Given the description of an element on the screen output the (x, y) to click on. 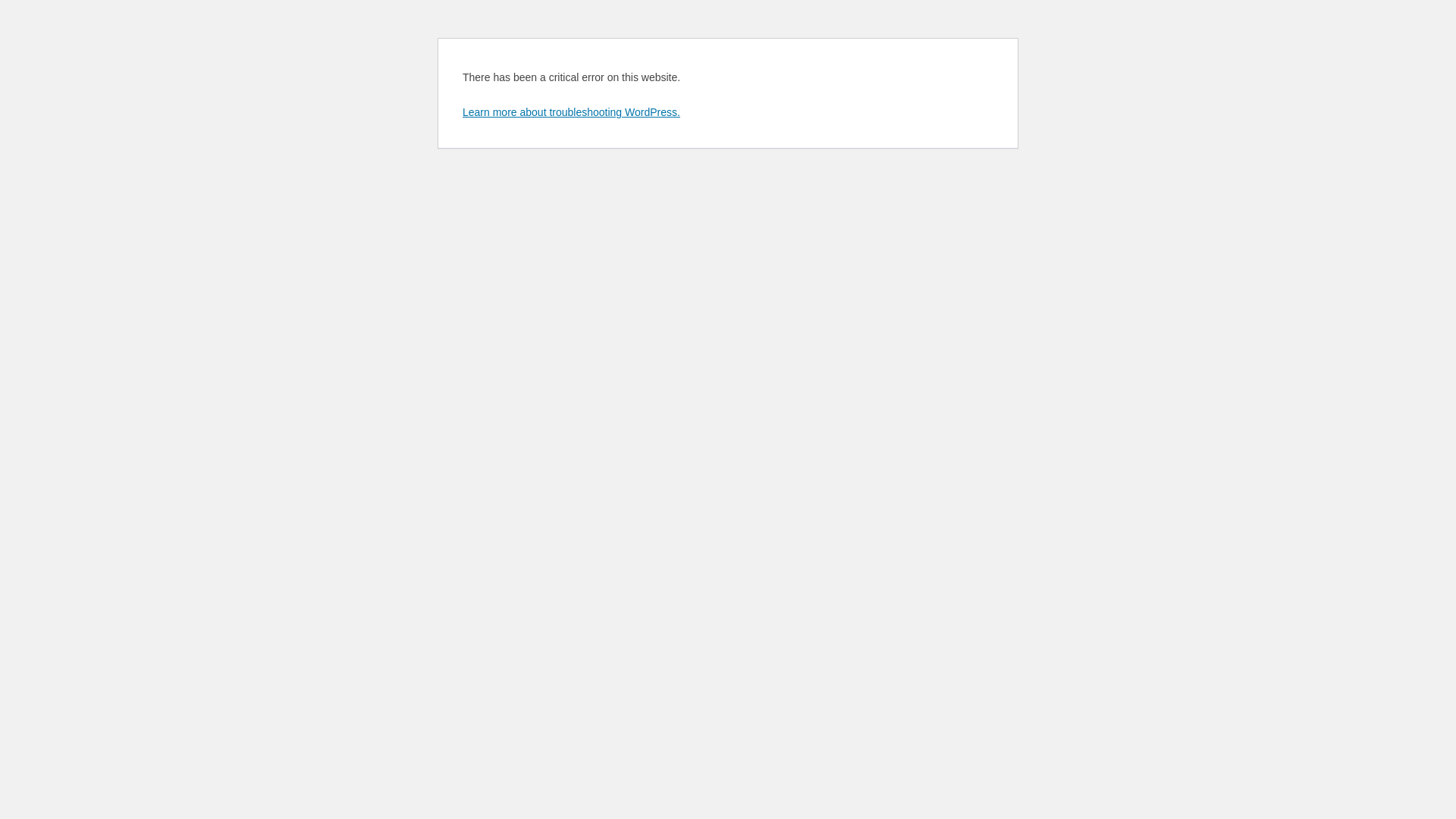
Learn more about troubleshooting WordPress. Element type: text (571, 112)
